Given the description of an element on the screen output the (x, y) to click on. 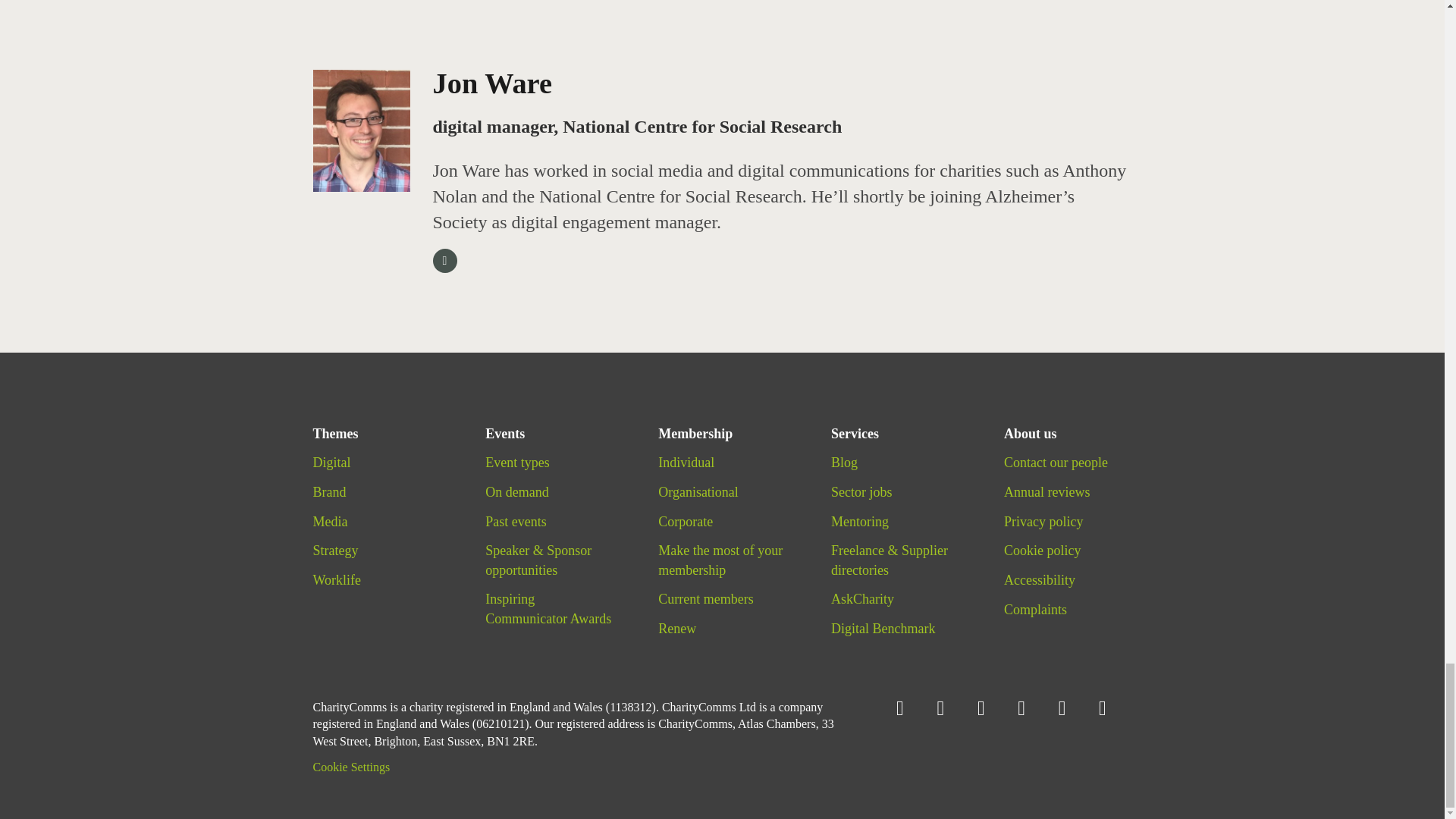
Podcast (908, 708)
eNews (948, 708)
LinkedIn (1111, 708)
YouTube (1070, 708)
Facebook (1029, 708)
Twitter (989, 708)
